Given the description of an element on the screen output the (x, y) to click on. 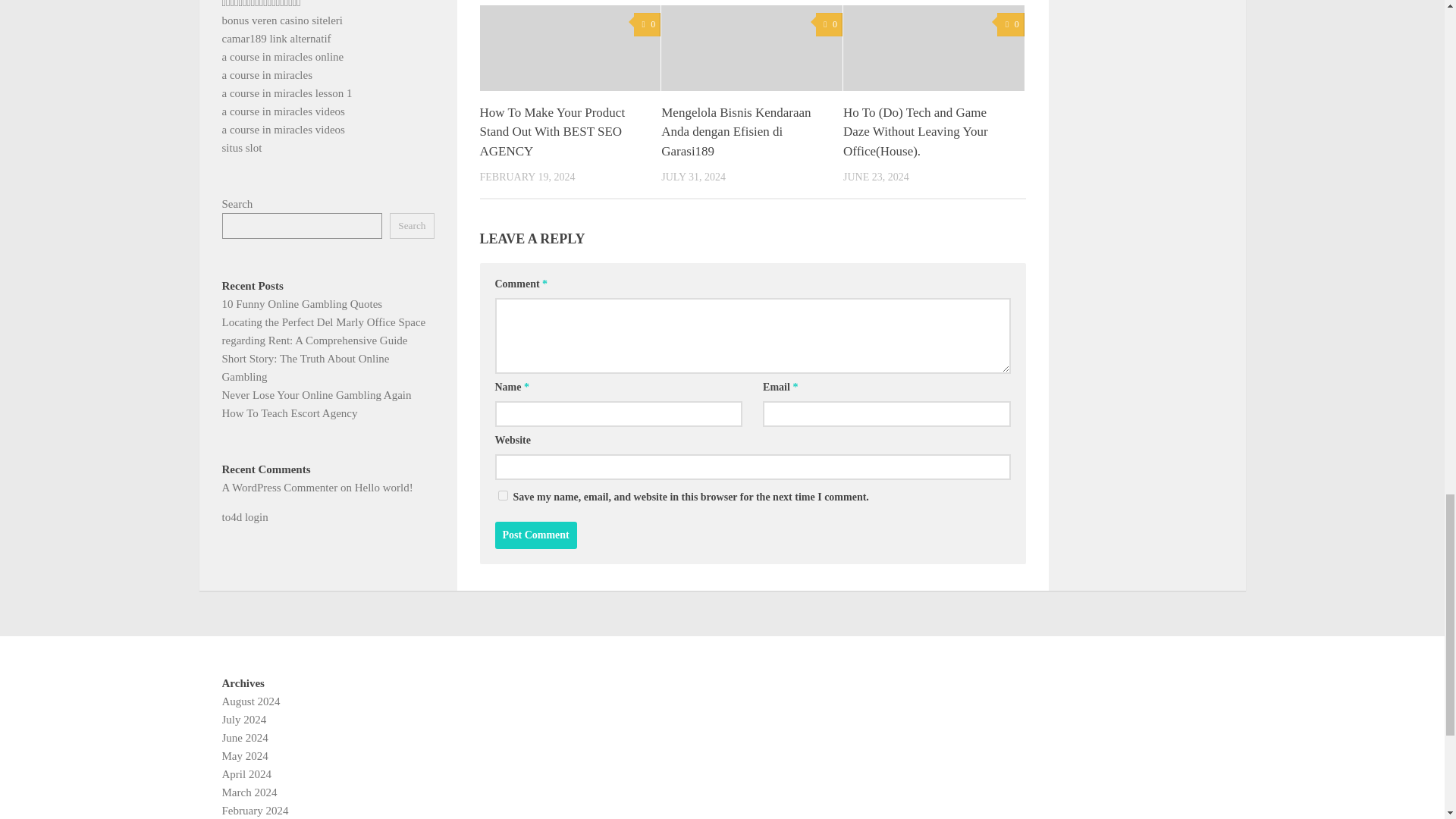
Post Comment (535, 534)
Mengelola Bisnis Kendaraan Anda dengan Efisien di Garasi189 (735, 131)
How To Make Your Product Stand Out With BEST SEO AGENCY (551, 131)
0 (1010, 24)
0 (829, 24)
0 (647, 24)
Post Comment (535, 534)
yes (501, 495)
